Given the description of an element on the screen output the (x, y) to click on. 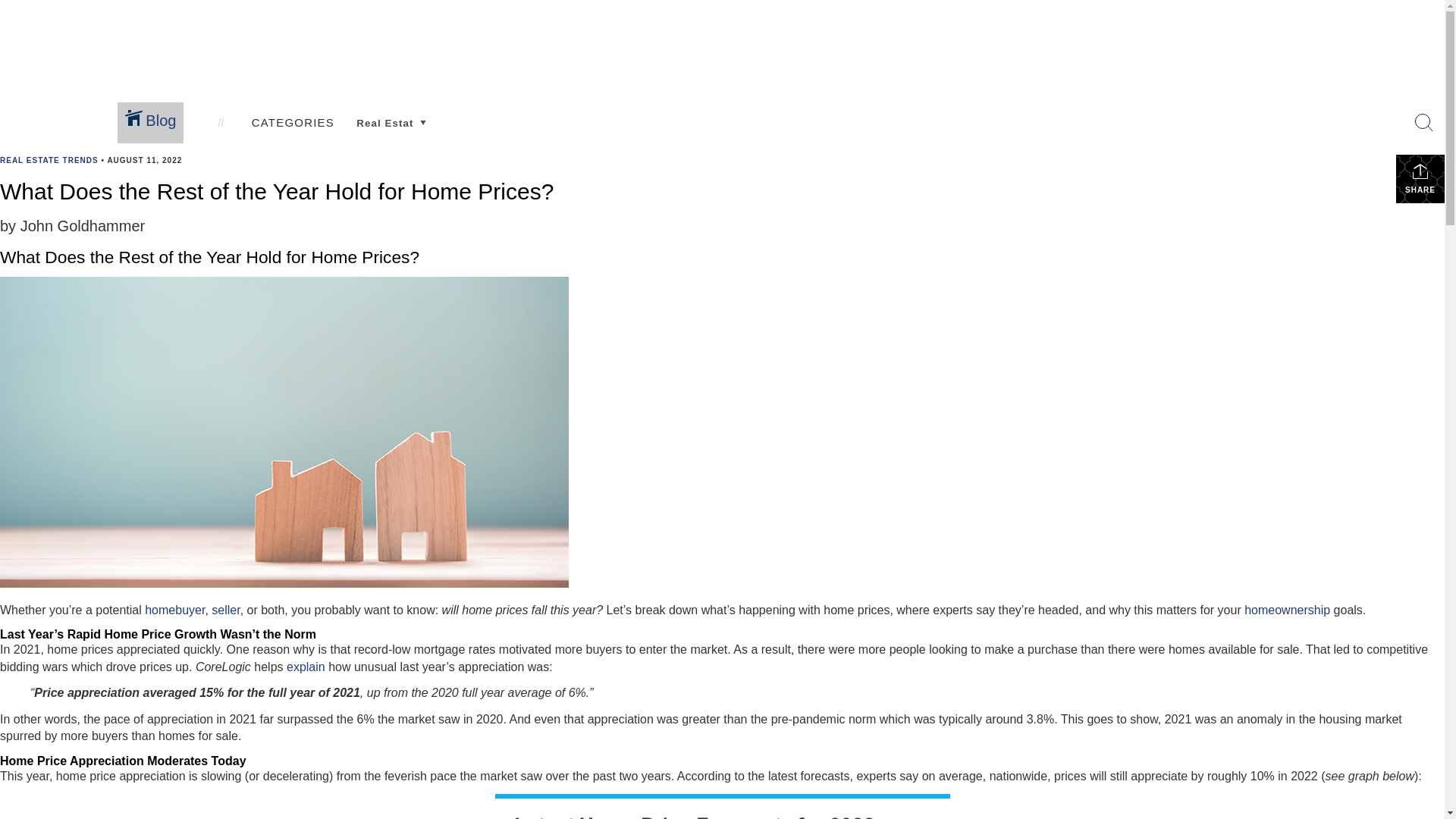
About Me (856, 88)
homebuyer (174, 609)
REAL ESTATE TRENDS (49, 160)
seller (225, 609)
Property Search (294, 135)
Blog (150, 122)
Neighborhood News (173, 135)
My Active Listings (554, 107)
My Blog (943, 120)
Blog (930, 88)
Contact Me (864, 132)
homeownership (1287, 609)
My Office's Listings (559, 120)
Windermere Blog (968, 132)
Financial Calculators (696, 132)
